Given the description of an element on the screen output the (x, y) to click on. 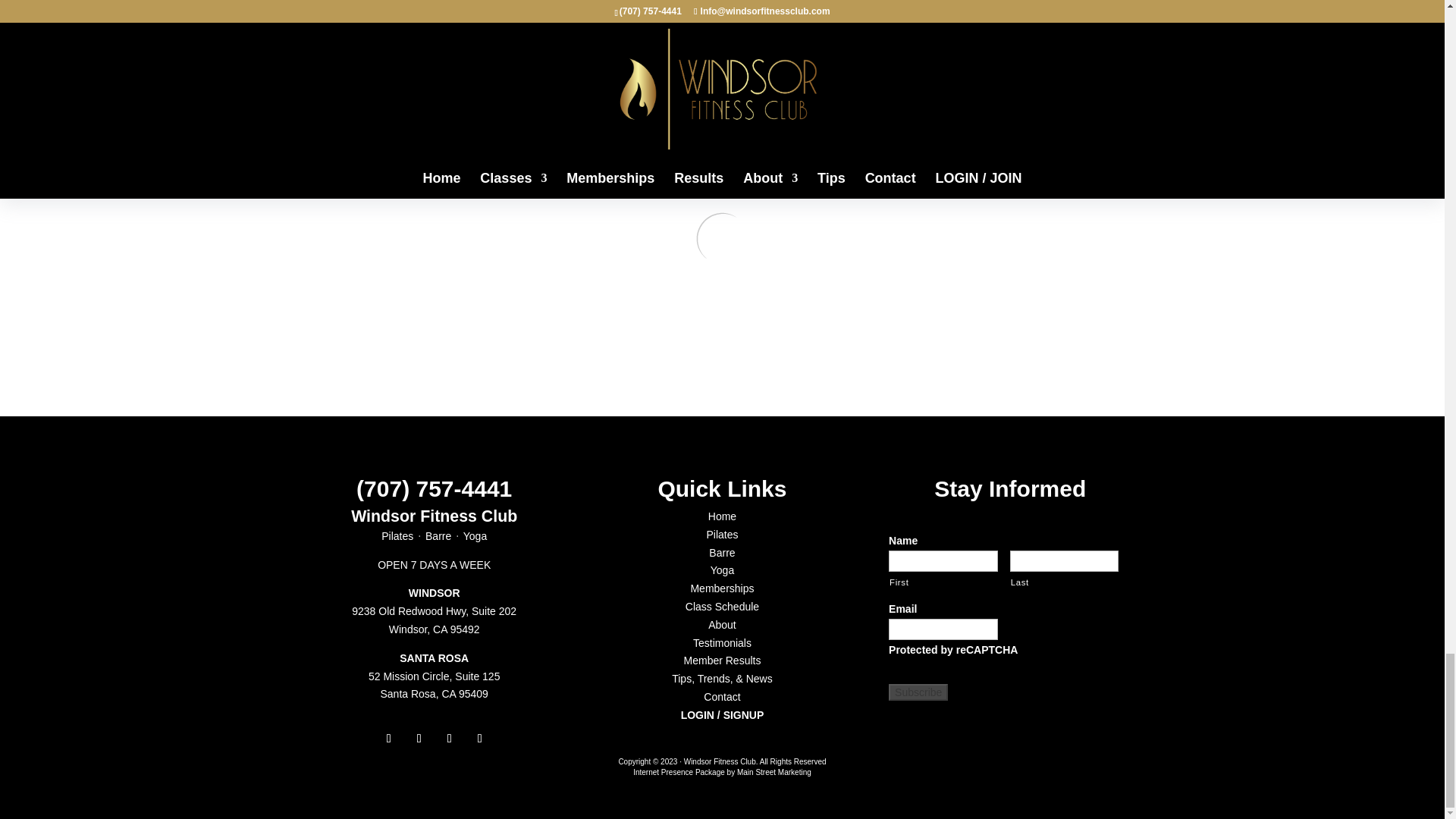
Follow on Facebook (389, 738)
Subscribe (917, 692)
Follow on X (479, 738)
Follow on LinkedIn (449, 738)
Follow on Instagram (418, 738)
